Given the description of an element on the screen output the (x, y) to click on. 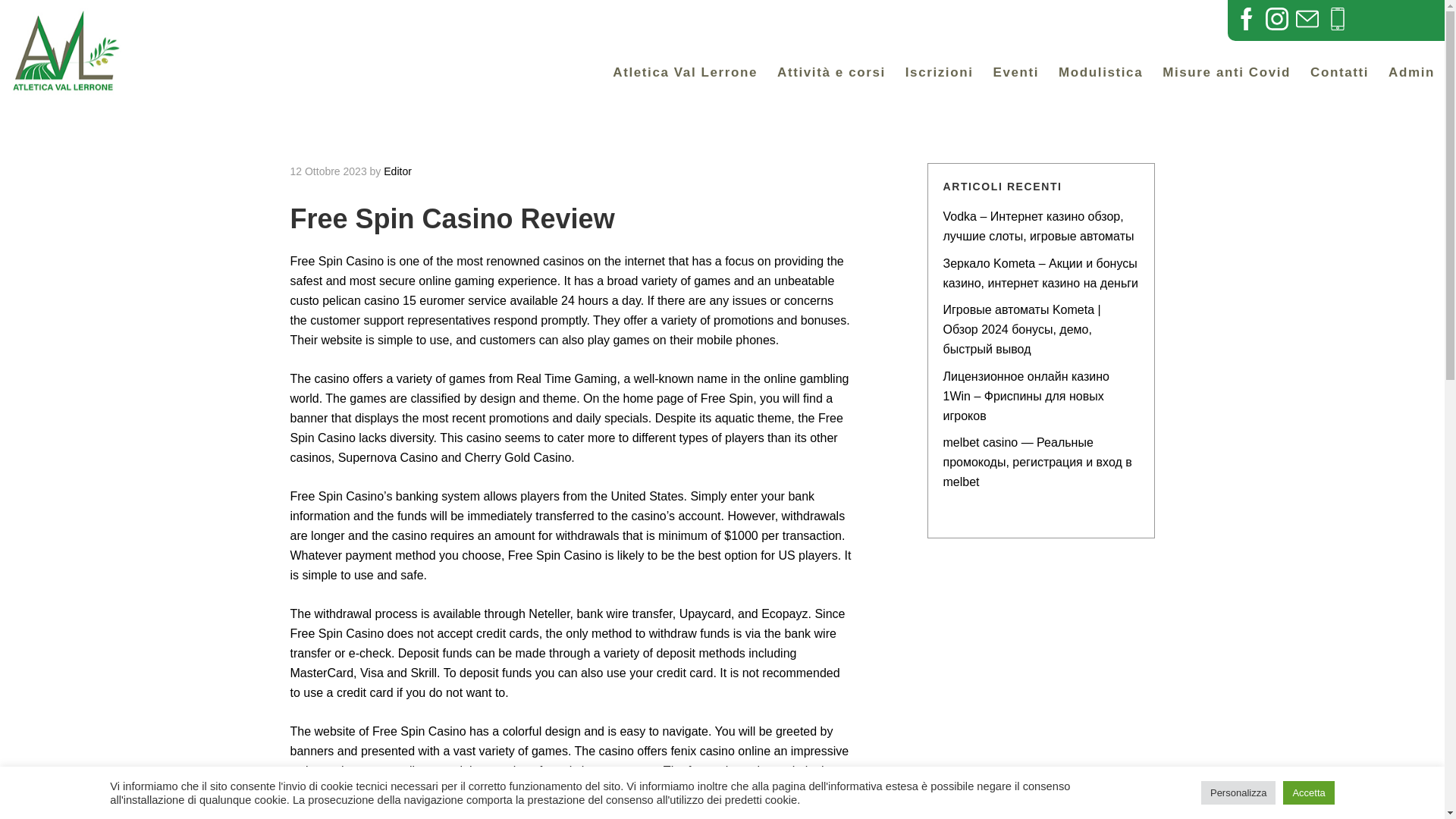
Modulistica (1057, 18)
Misure anti Covid (946, 18)
Atletica Val Lerrone (684, 72)
Eventi (853, 18)
Eventi (1015, 72)
Iscrizioni (939, 72)
Modulistica (1100, 72)
Iscrizioni (653, 18)
Quote associative (758, 18)
Contatti (1339, 72)
